Given the description of an element on the screen output the (x, y) to click on. 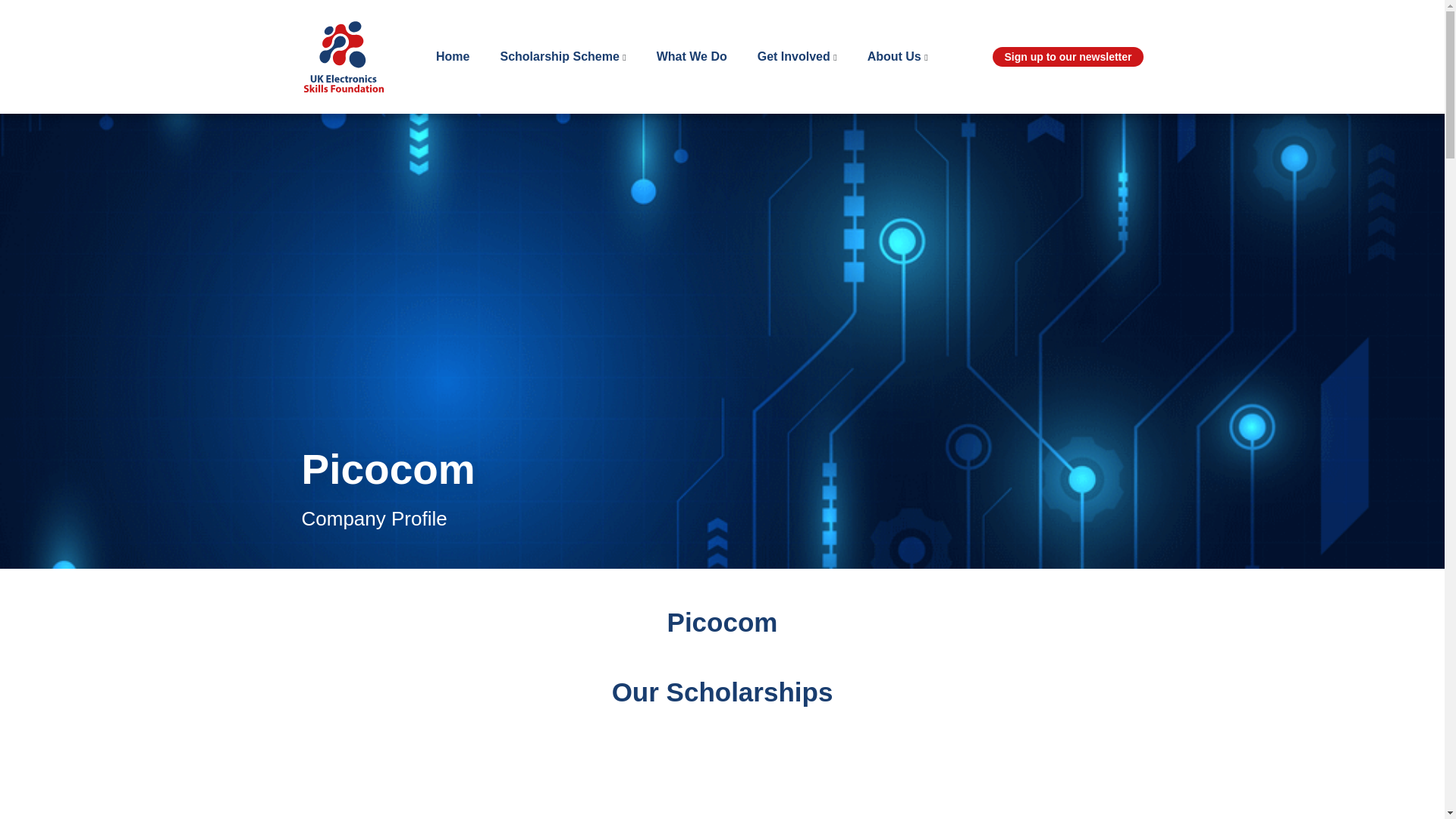
Get Involved (793, 57)
What We Do (691, 57)
Sign up to our newsletter (1067, 56)
Home (451, 57)
About Us (894, 57)
Scholarship Scheme (558, 57)
